Given the description of an element on the screen output the (x, y) to click on. 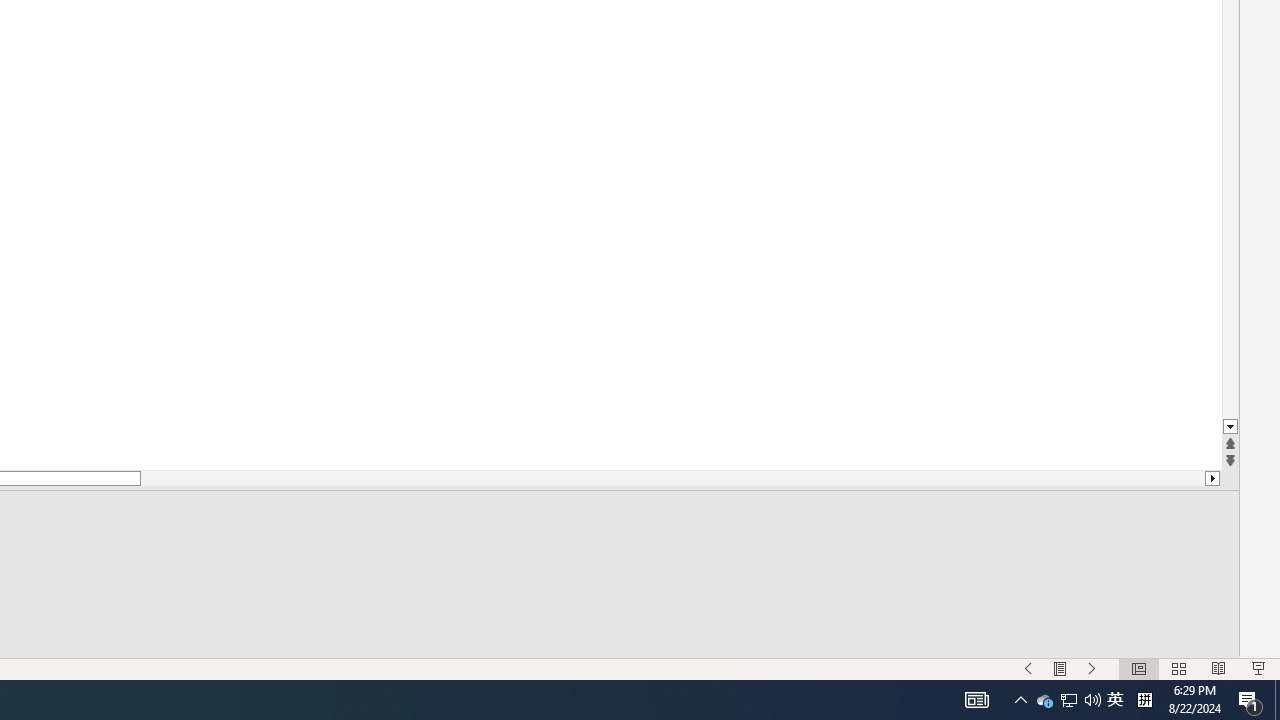
Q2790: 100% (1092, 699)
Notification Chevron (1020, 699)
Menu On (1060, 668)
Slide Show Previous On (1028, 668)
Show desktop (1277, 699)
Tray Input Indicator - Chinese (Simplified, China) (1115, 699)
AutomationID: 4105 (1144, 699)
Action Center, 1 new notification (976, 699)
